Given the description of an element on the screen output the (x, y) to click on. 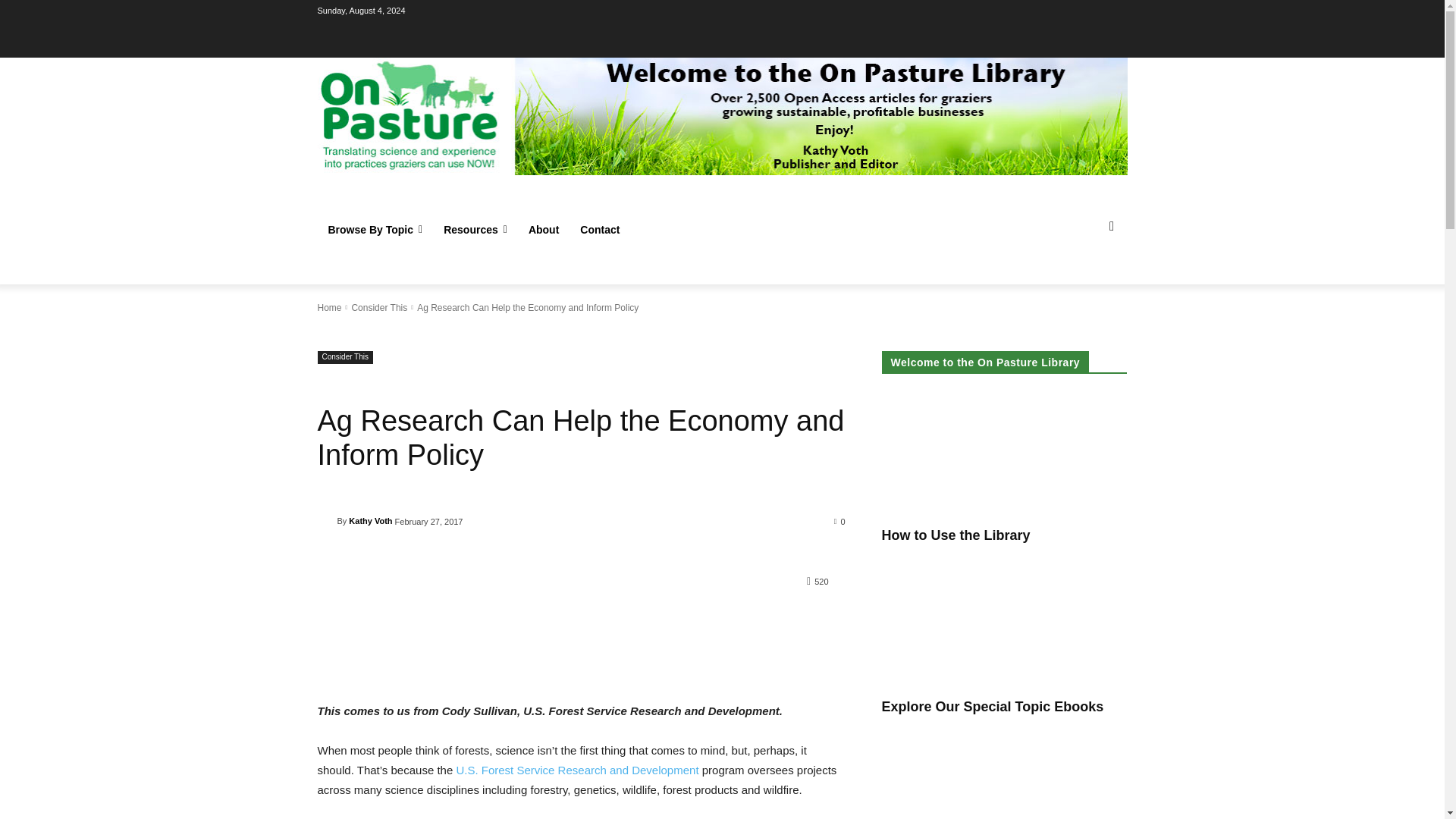
Kathy Voth (326, 520)
View all posts in Consider This (378, 307)
